Given the description of an element on the screen output the (x, y) to click on. 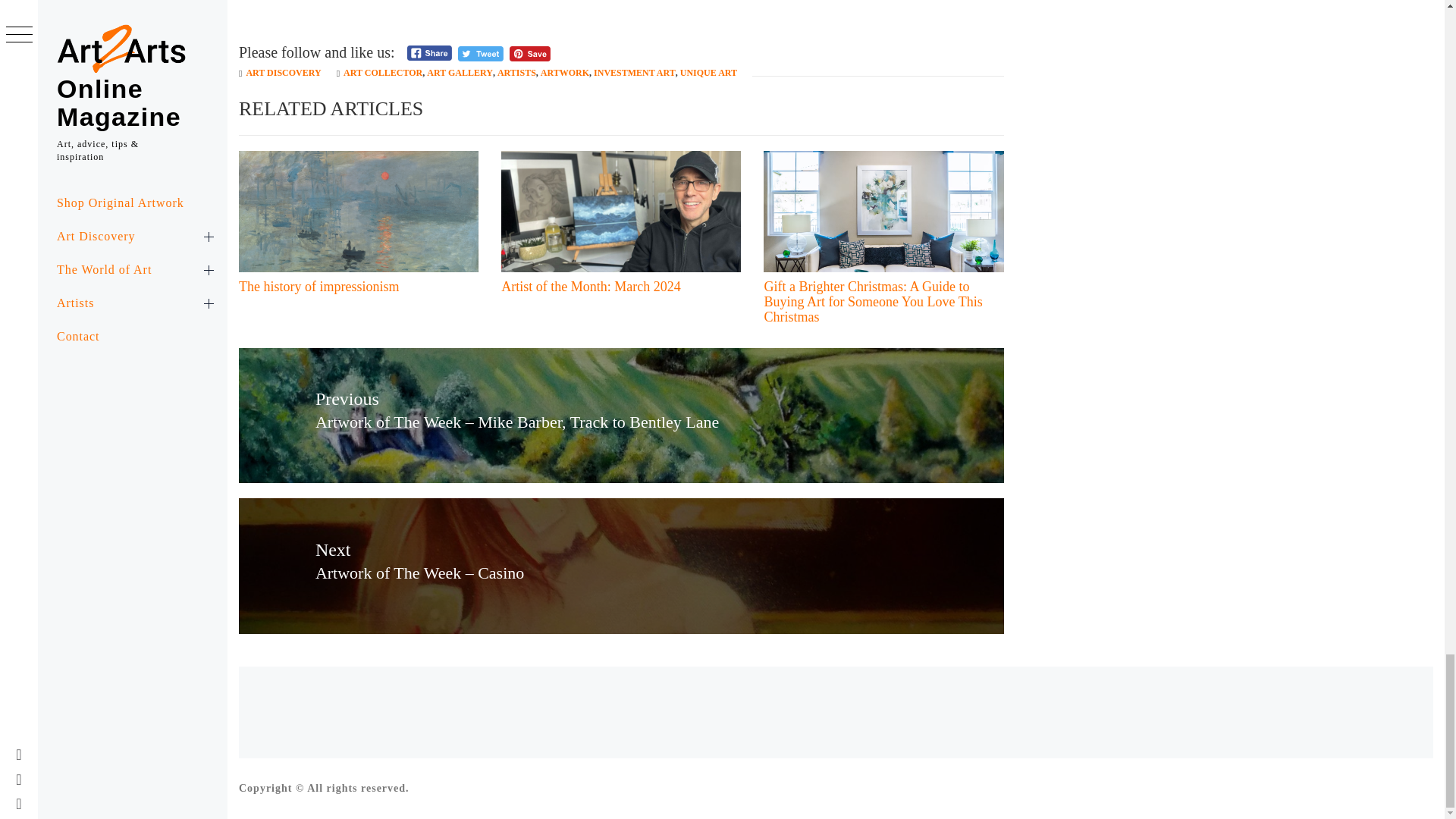
ART DISCOVERY (283, 72)
Facebook Share (429, 52)
Tweet (480, 53)
Pin Share (529, 53)
